Given the description of an element on the screen output the (x, y) to click on. 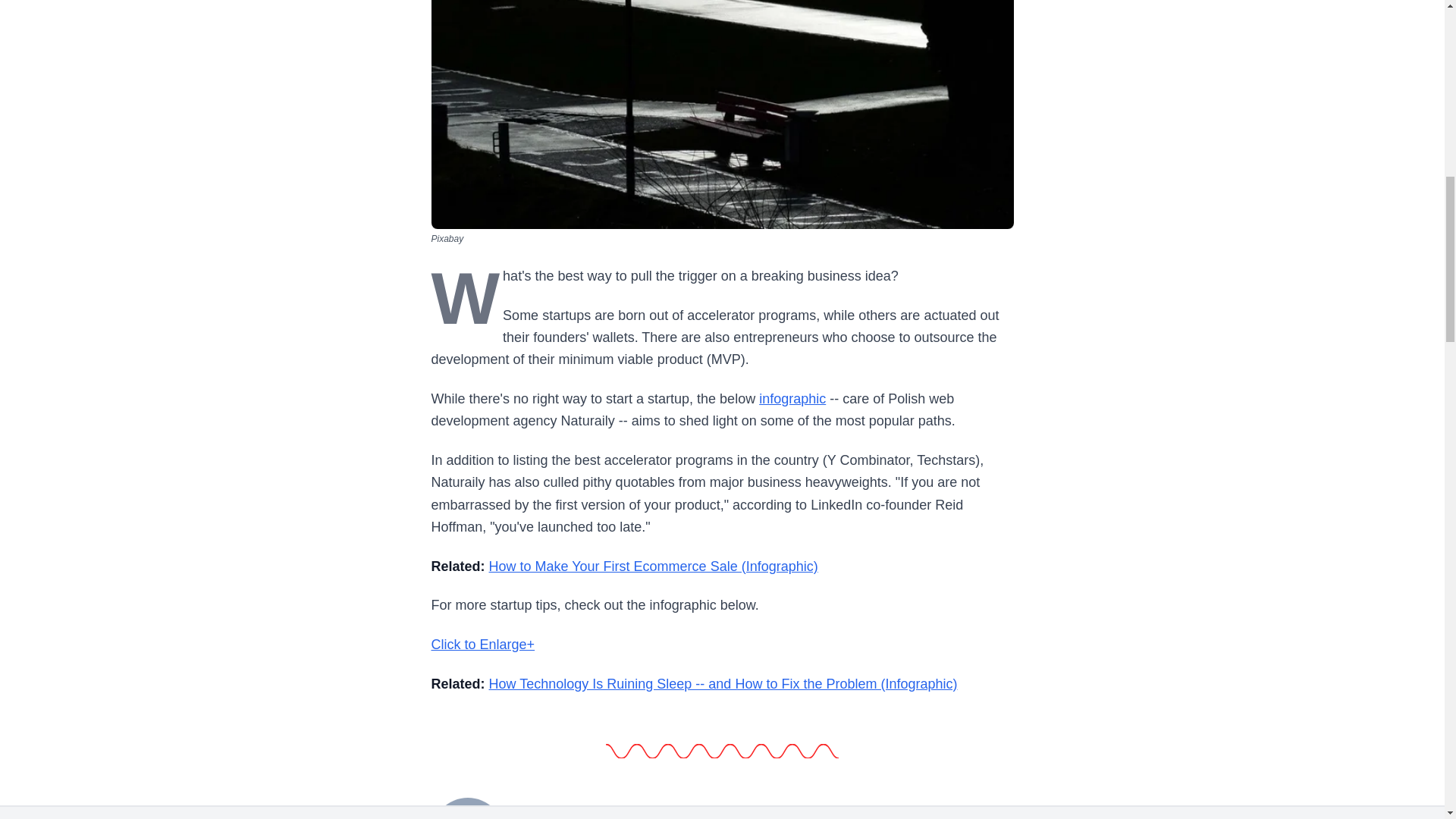
Geoff Weiss (466, 806)
